Given the description of an element on the screen output the (x, y) to click on. 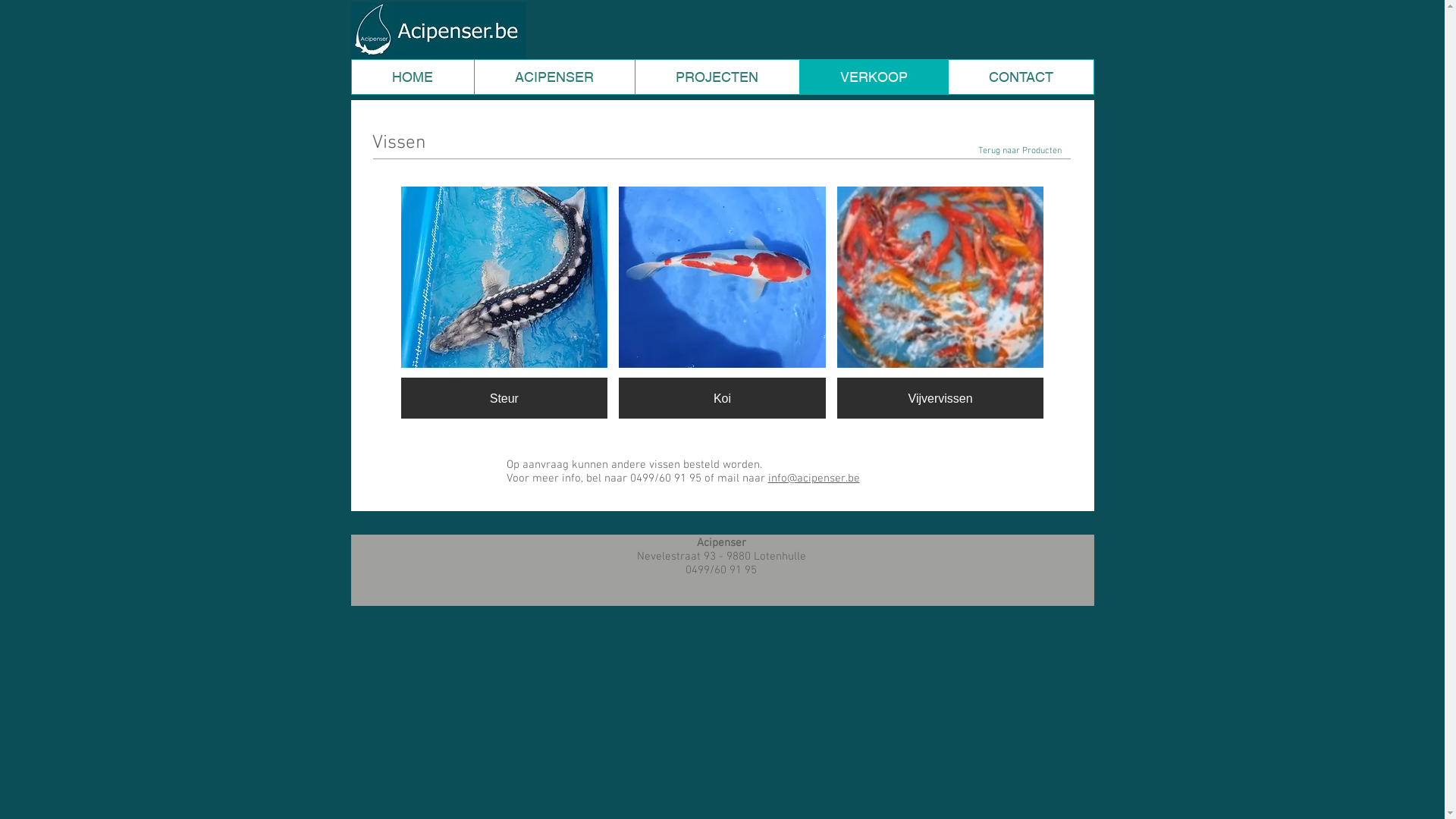
info@acipenser.be Element type: text (813, 478)
HOME Element type: text (412, 76)
VERKOOP Element type: text (873, 76)
Vijvervissen Element type: text (940, 302)
Terug naar Producten Element type: text (1019, 151)
ACIPENSER Element type: text (553, 76)
PROJECTEN Element type: text (715, 76)
Koi Element type: text (721, 302)
Steur Element type: text (503, 302)
CONTACT Element type: text (1020, 76)
